Given the description of an element on the screen output the (x, y) to click on. 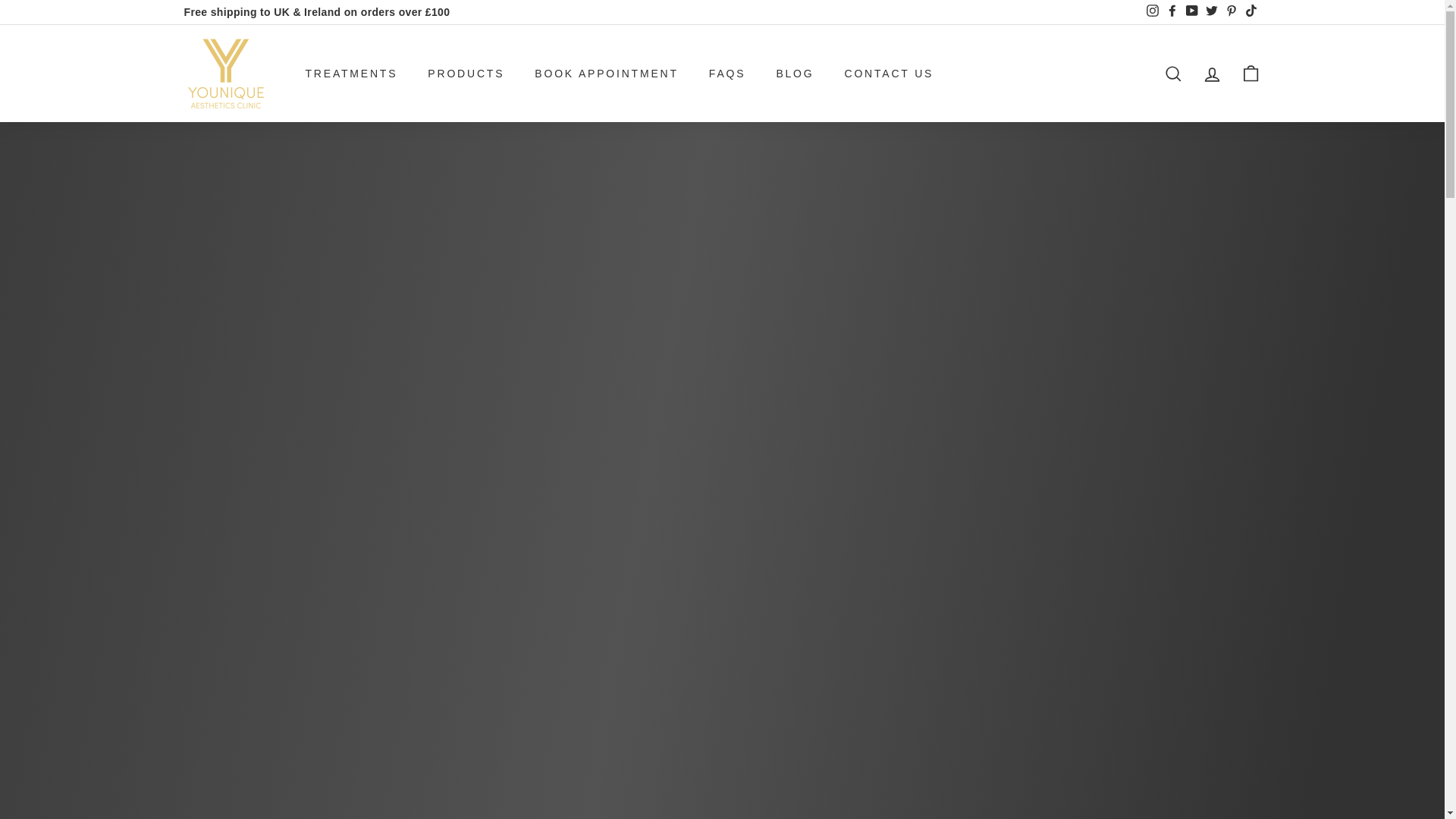
Younique Aesthetics on Pinterest (1230, 12)
Instagram (1151, 12)
Younique Aesthetics on YouTube (1190, 12)
Twitter (1211, 12)
PRODUCTS (465, 73)
Pinterest (1230, 12)
TREATMENTS (350, 73)
Younique Aesthetics on Instagram (1151, 12)
Younique Aesthetics on TikTok (1250, 12)
